Given the description of an element on the screen output the (x, y) to click on. 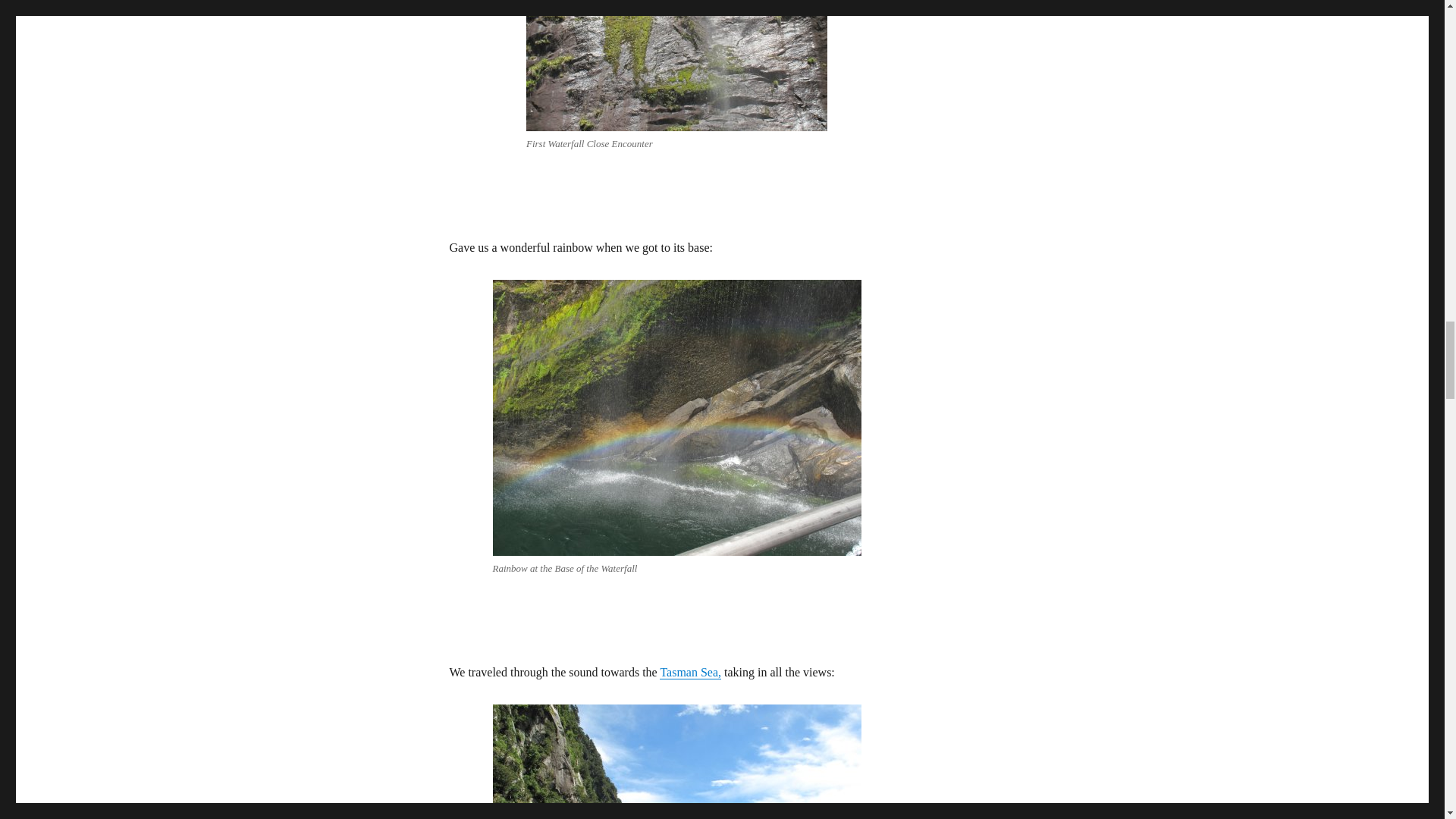
waterfall2 (676, 65)
sound2 (677, 761)
Tasman Sea, (689, 671)
waterfall3 (677, 418)
